Given the description of an element on the screen output the (x, y) to click on. 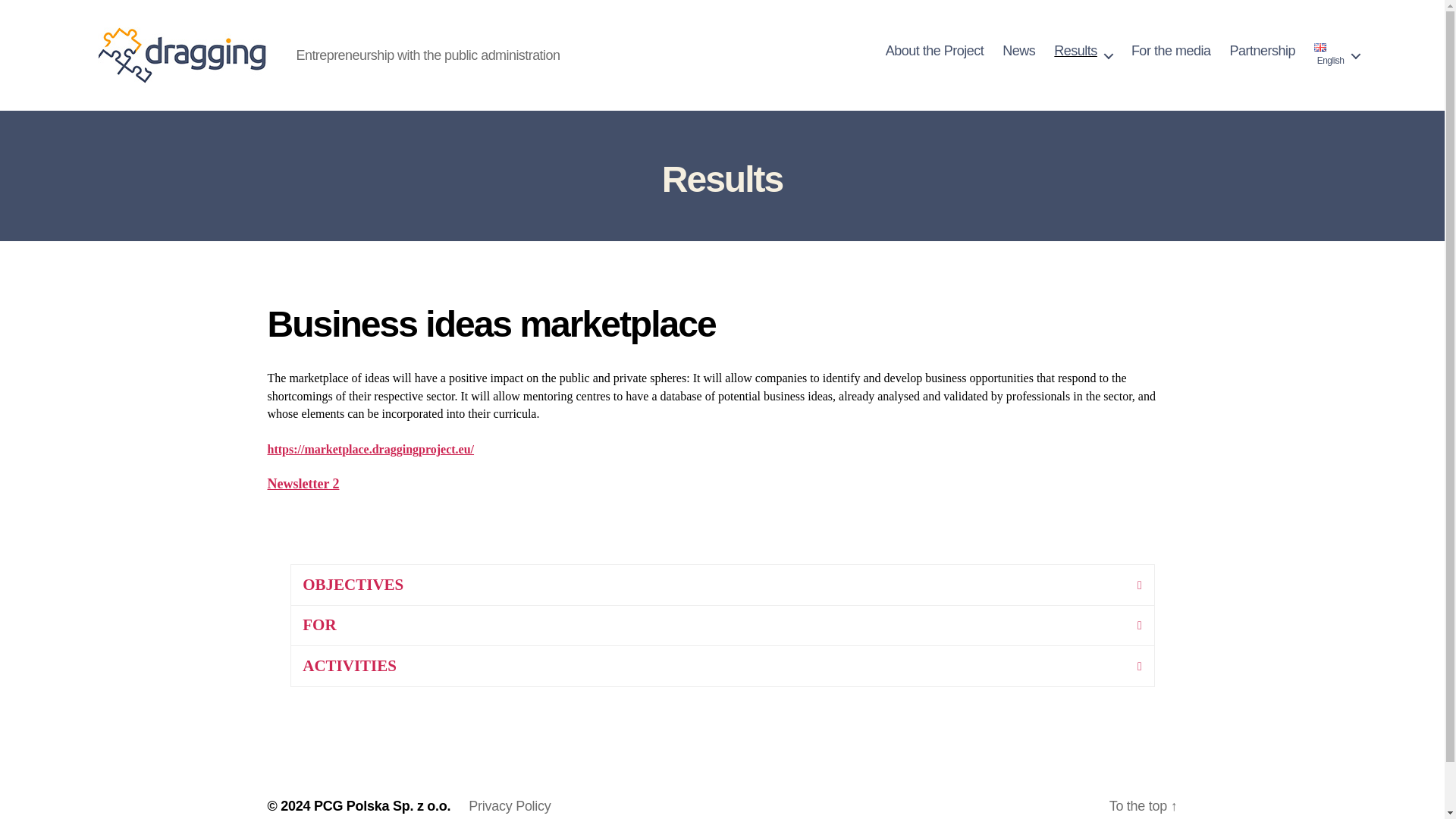
English (1336, 55)
Privacy Policy (509, 806)
Results (1083, 51)
Partnership (1261, 51)
OBJECTIVES (721, 585)
Newsletter 2 (302, 484)
For the media (1171, 51)
News (1019, 51)
About the Project (934, 51)
FOR (721, 625)
ACTIVITIES (721, 666)
